Given the description of an element on the screen output the (x, y) to click on. 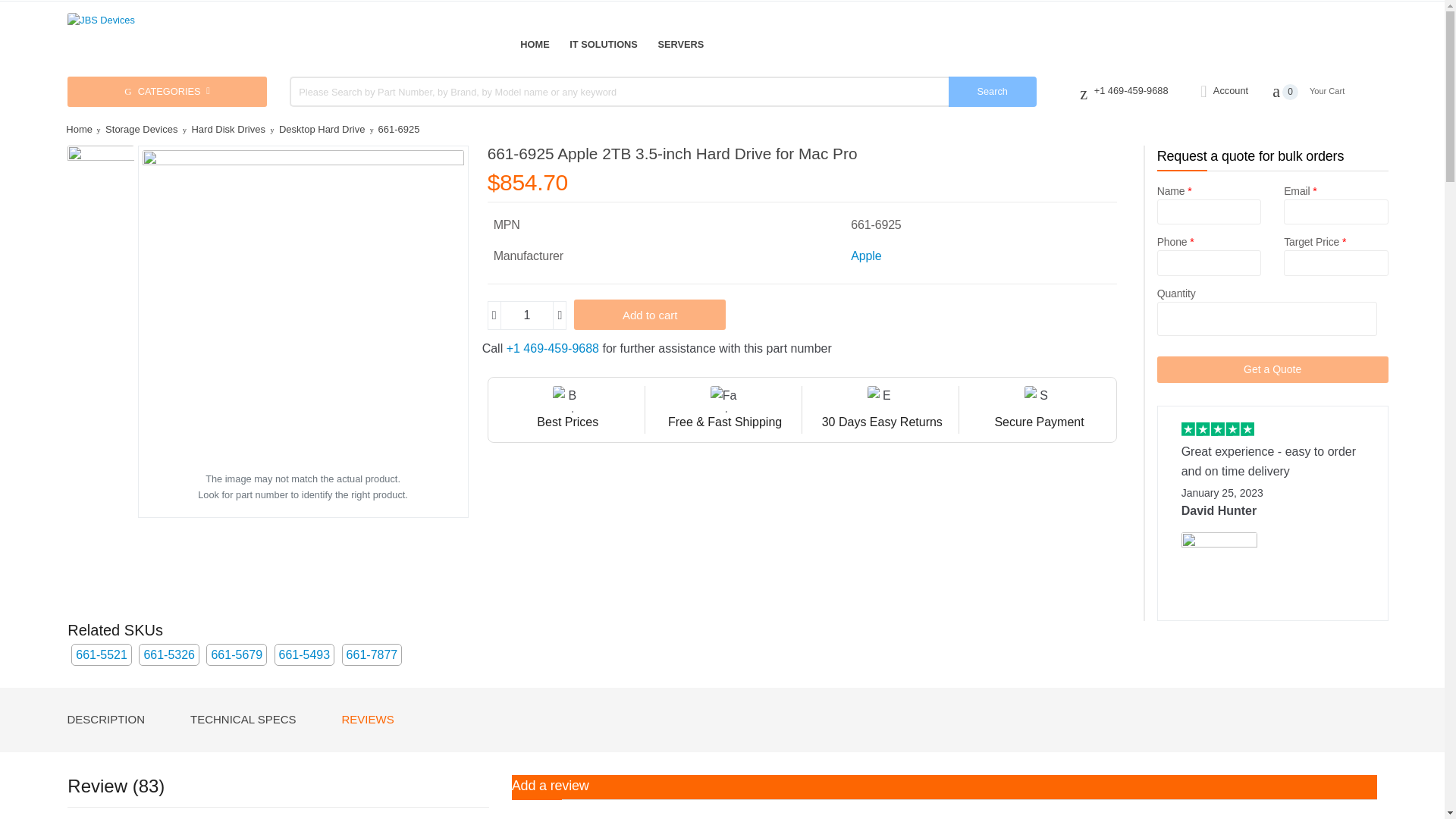
View your shopping cart (1324, 91)
HOME (533, 43)
Home (533, 43)
Get a Quote (1273, 369)
SERVERS (680, 43)
CATEGORIES (166, 91)
IT Solutions (603, 43)
IT SOLUTIONS (603, 43)
